Given the description of an element on the screen output the (x, y) to click on. 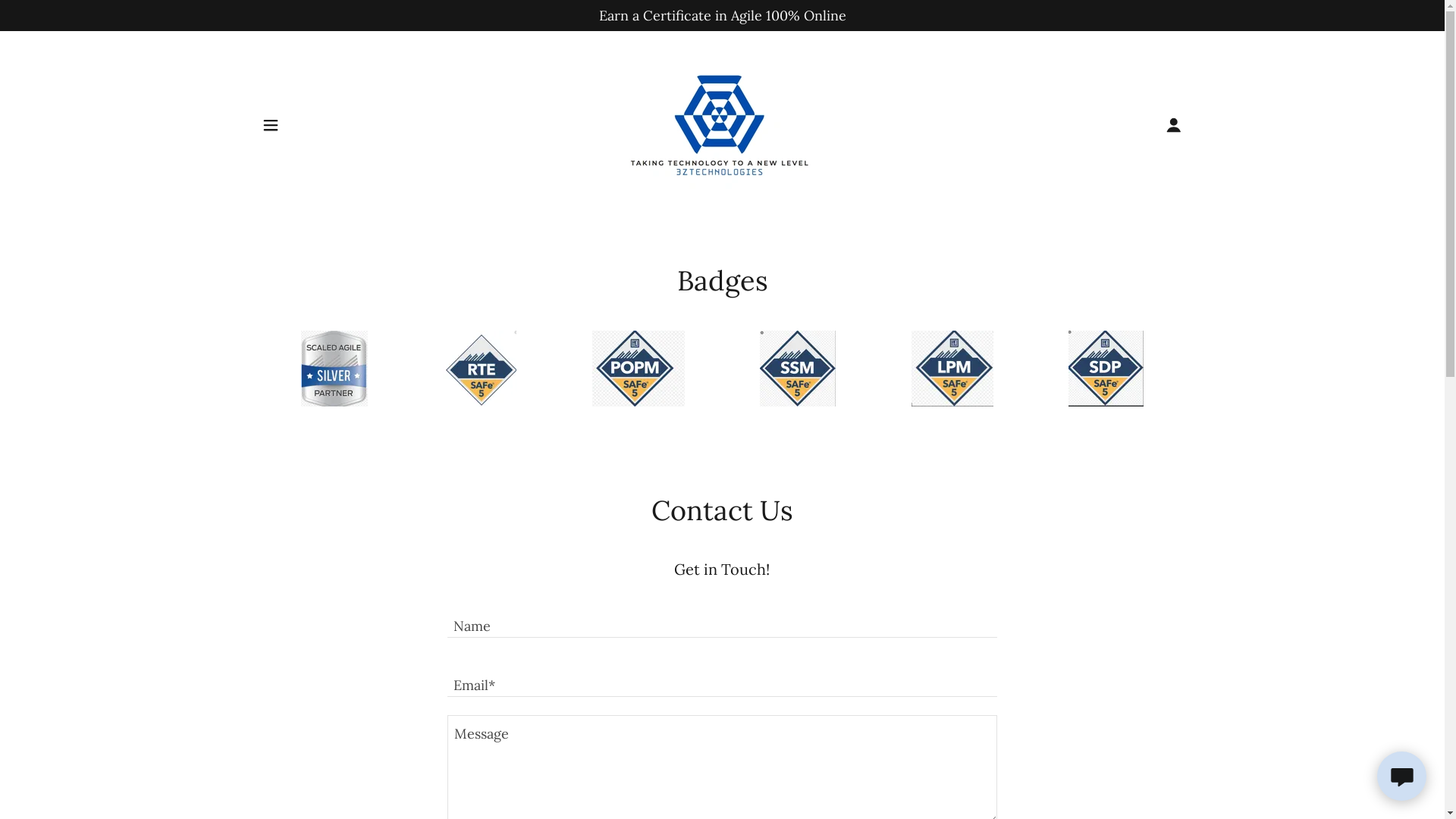
3ZTechnologies Element type: hover (721, 123)
